Given the description of an element on the screen output the (x, y) to click on. 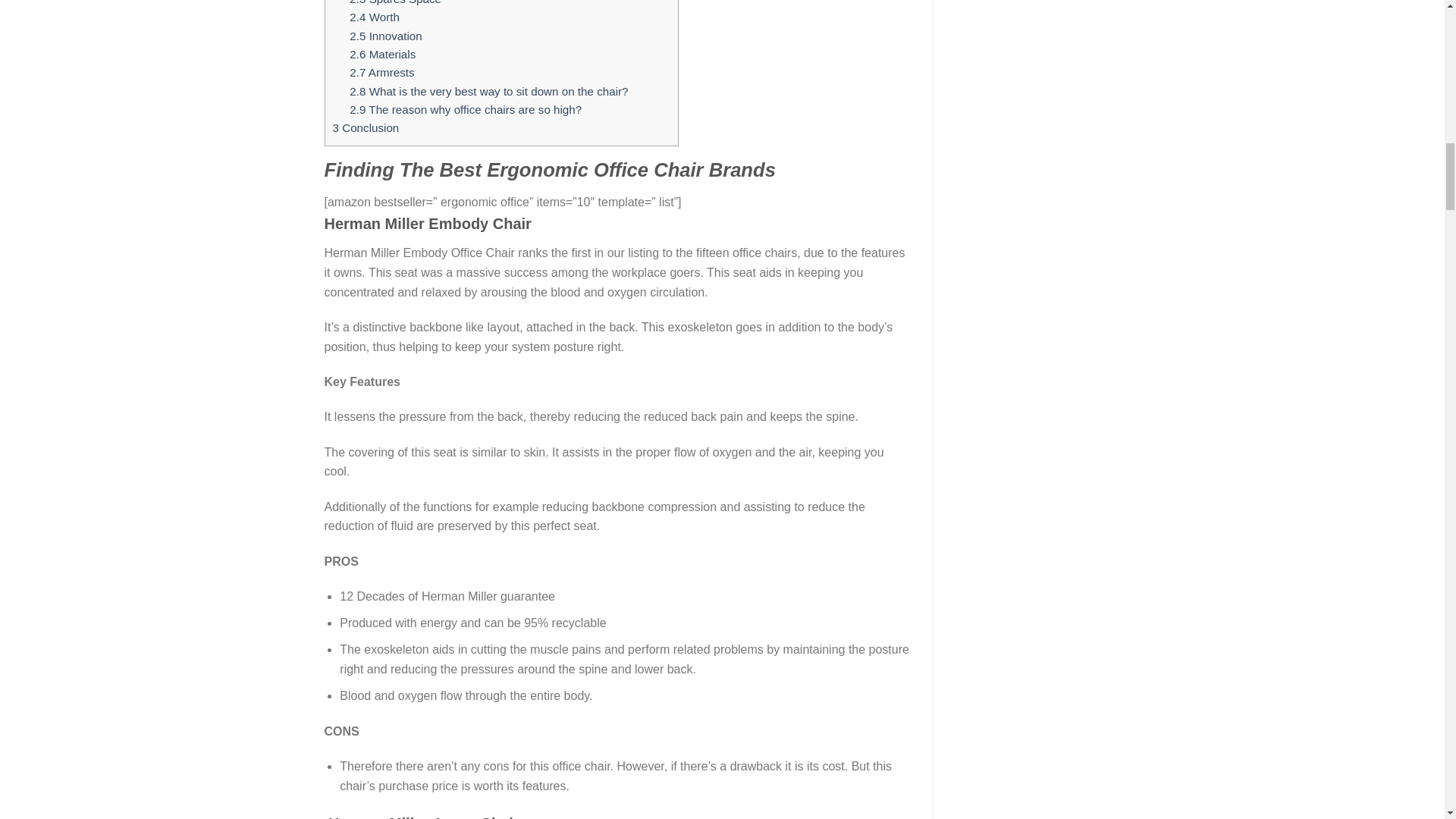
2.7 Armrests (381, 72)
2.5 Innovation (385, 35)
2.8 What is the very best way to sit down on the chair? (488, 91)
2.3 Spares Space (395, 2)
2.9 The reason why office chairs are so high? (464, 109)
3 Conclusion (364, 127)
2.4 Worth (373, 16)
2.6 Materials (381, 53)
